Given the description of an element on the screen output the (x, y) to click on. 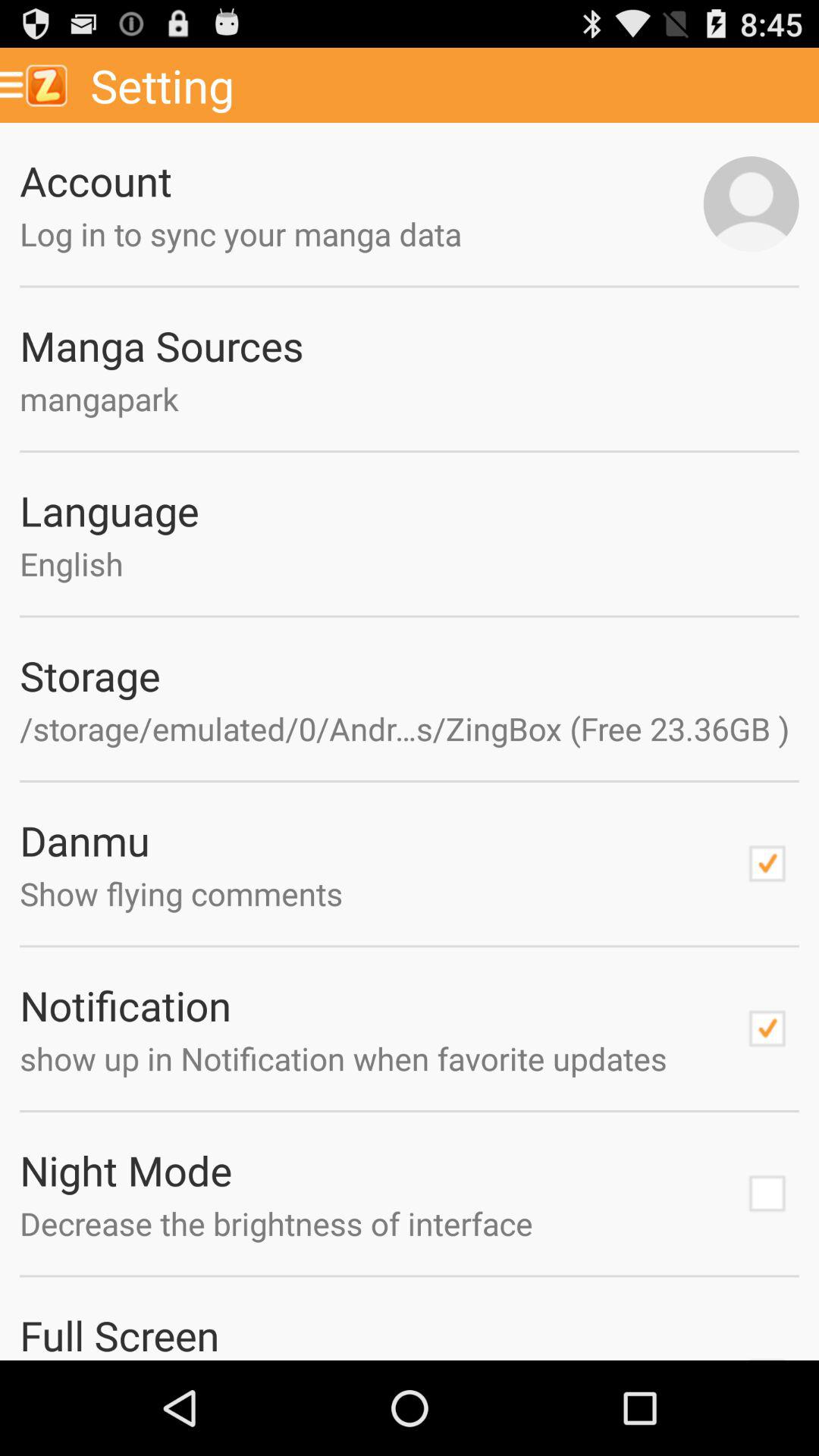
scroll to the mangapark app (409, 398)
